Given the description of an element on the screen output the (x, y) to click on. 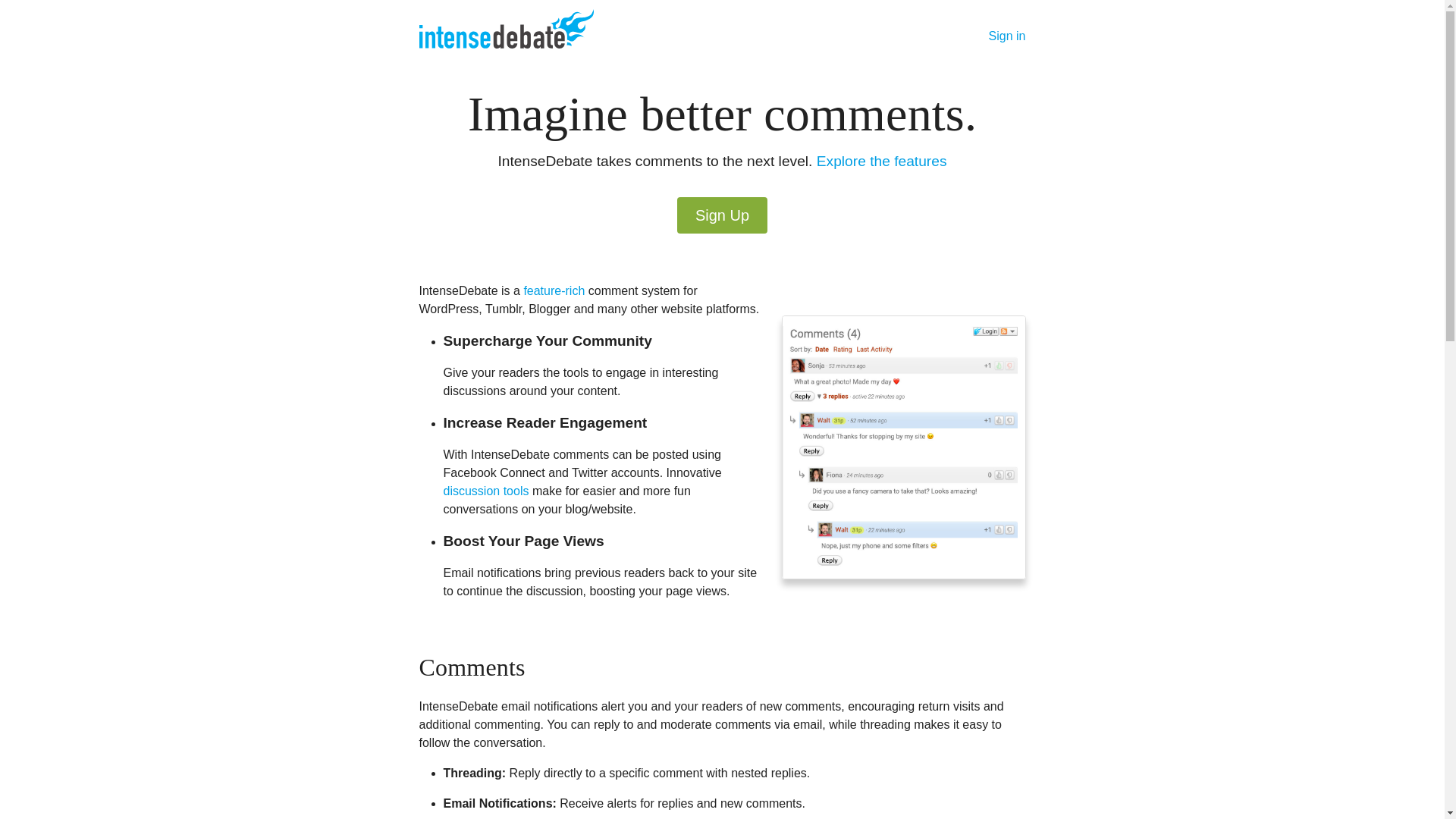
feature-rich (553, 290)
Explore the features (881, 160)
View the features of IntenseDebate (553, 290)
discussion tools (485, 490)
Sign in (1007, 35)
Sign Up (722, 215)
